Given the description of an element on the screen output the (x, y) to click on. 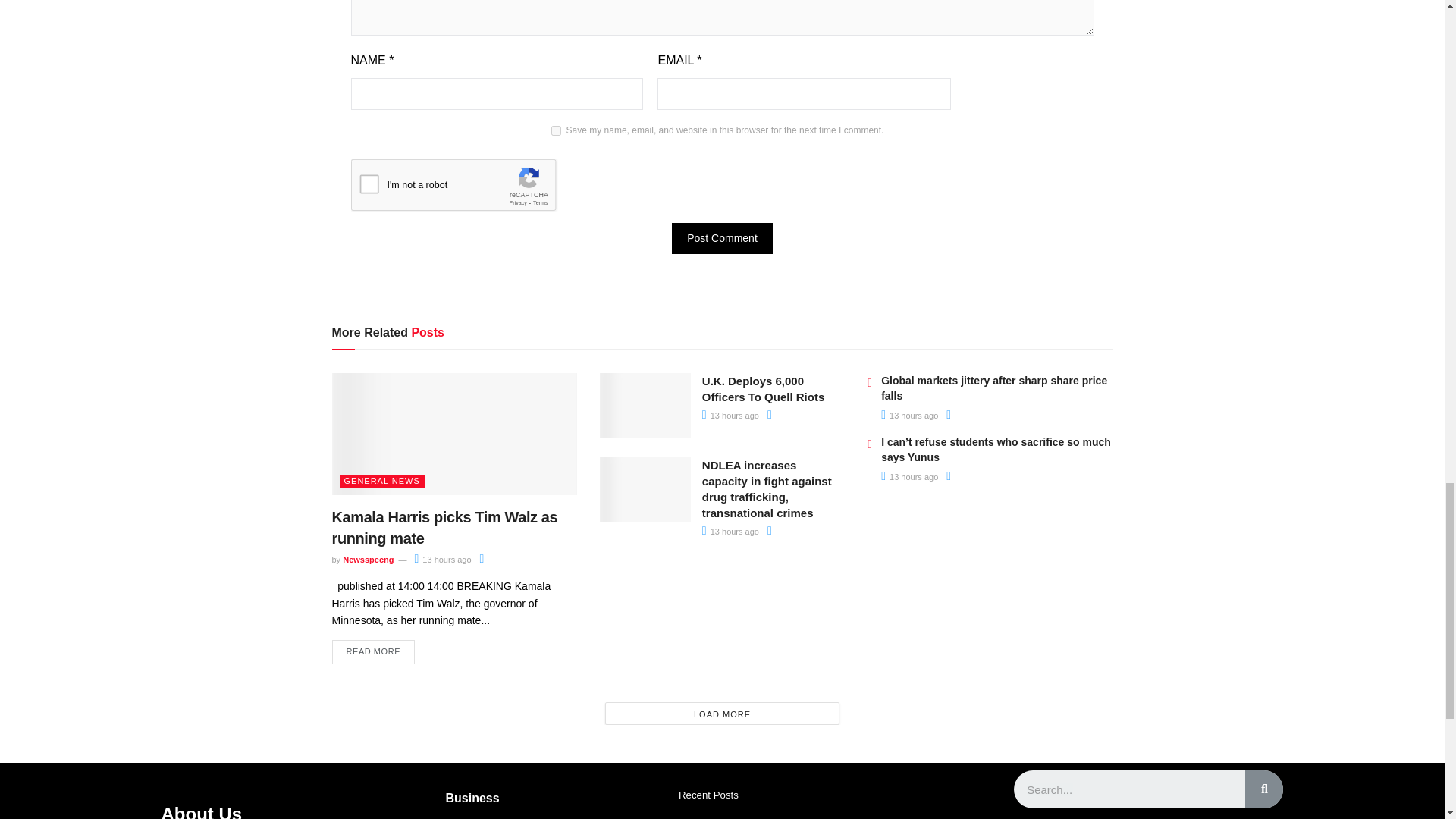
yes (555, 130)
Post Comment (722, 237)
Search (1263, 789)
Search (1128, 789)
reCAPTCHA (465, 188)
